Given the description of an element on the screen output the (x, y) to click on. 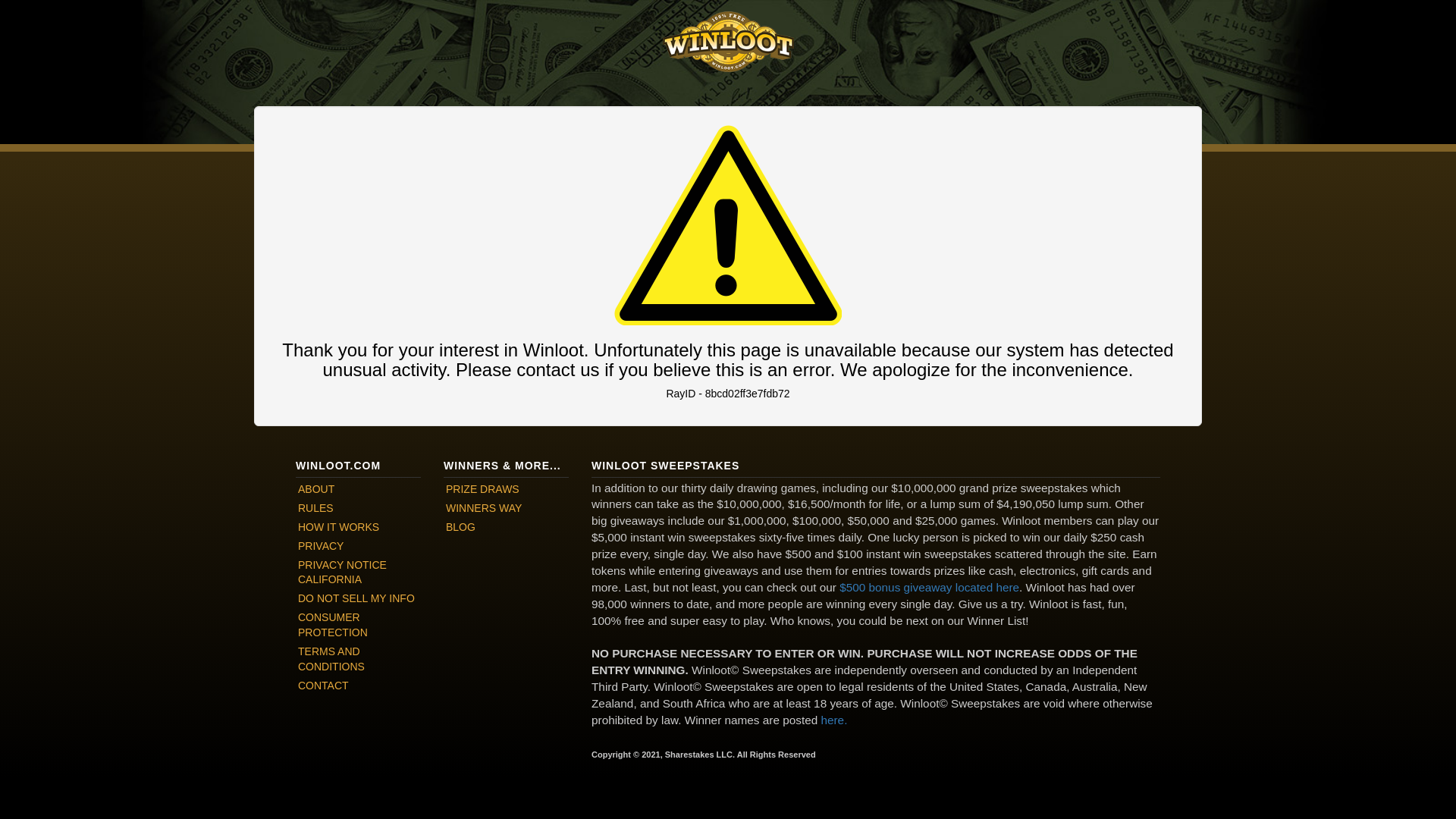
Winloot Sweepstakes Privacy Policy (357, 546)
RULES (357, 508)
PRIVACY (357, 546)
PRIVACY NOTICE CALIFORNIA (357, 572)
HOW IT WORKS (357, 527)
DO NOT SELL MY INFO (357, 598)
Winloot Blog (506, 527)
Winloot Sweepstakes Privacy Policy (357, 572)
Winloot Sweepstakes Privacy Policy (357, 598)
CONSUMER PROTECTION (357, 625)
